Given the description of an element on the screen output the (x, y) to click on. 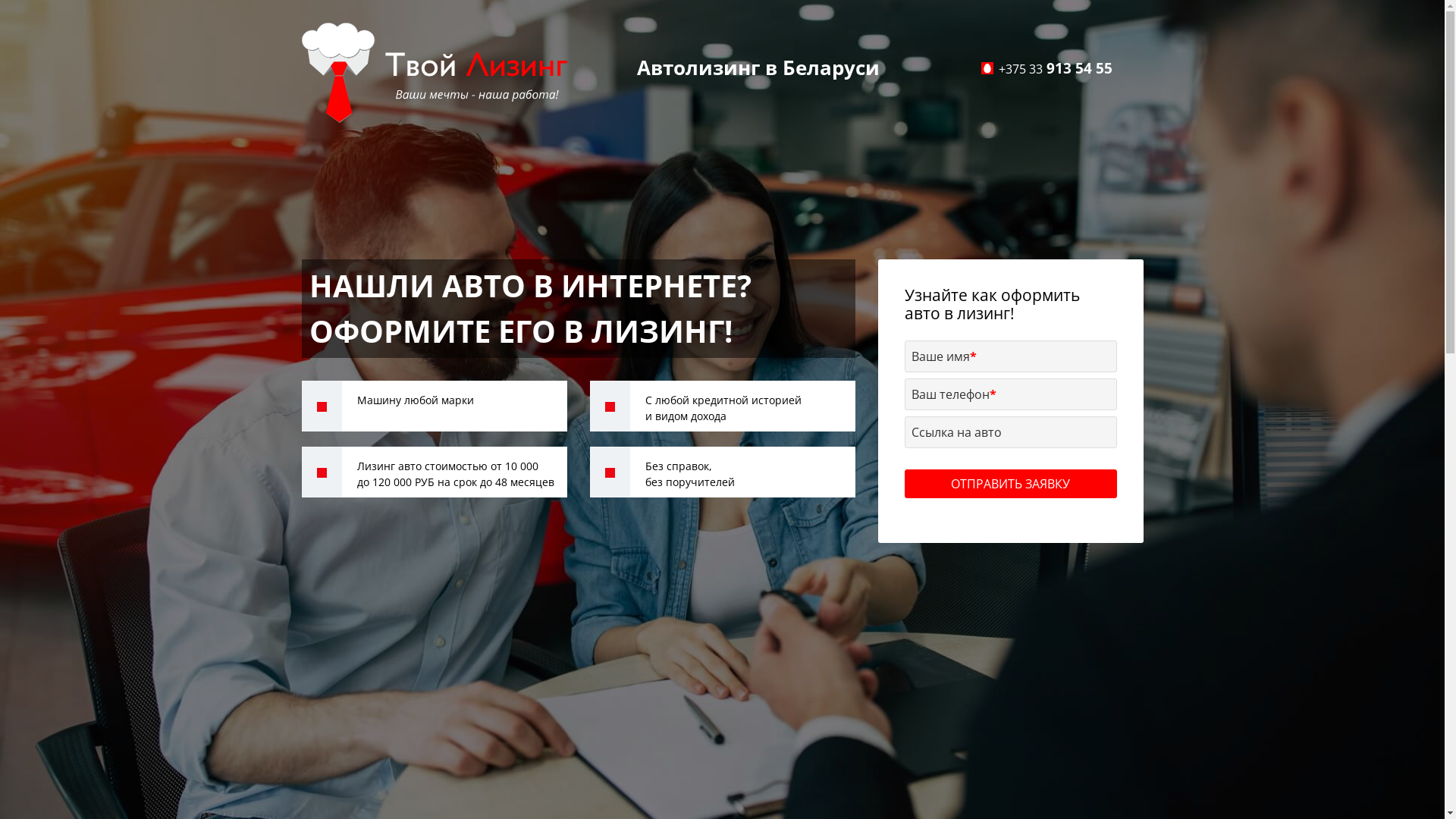
+375 33 913 54 55 Element type: text (1054, 68)
